Given the description of an element on the screen output the (x, y) to click on. 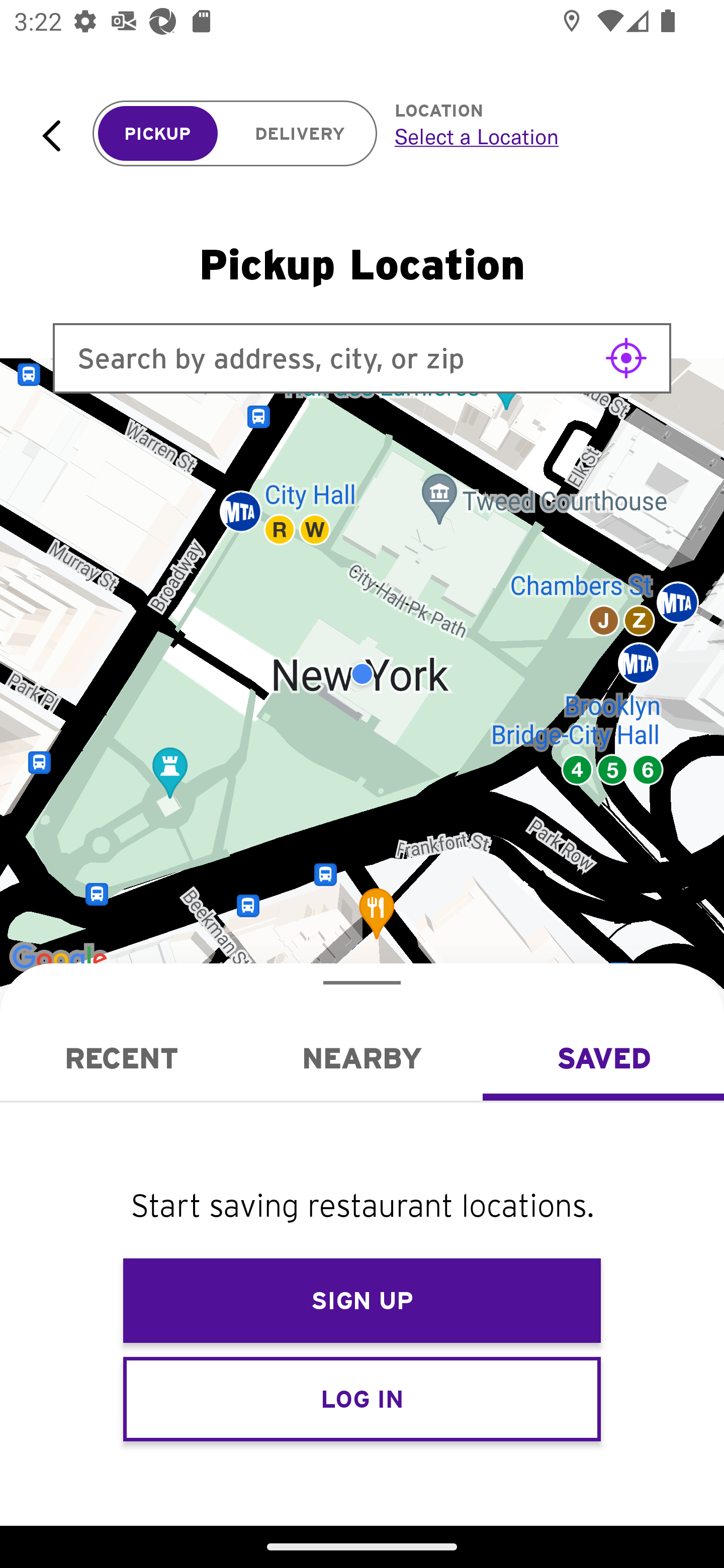
PICKUP (157, 133)
DELIVERY (299, 133)
Select a Location (536, 136)
Search by address, city, or zip (361, 358)
Google Map (362, 674)
Recent RECENT (120, 1058)
Nearby NEARBY (361, 1058)
SIGN UP (361, 1300)
LOG IN (361, 1398)
